Given the description of an element on the screen output the (x, y) to click on. 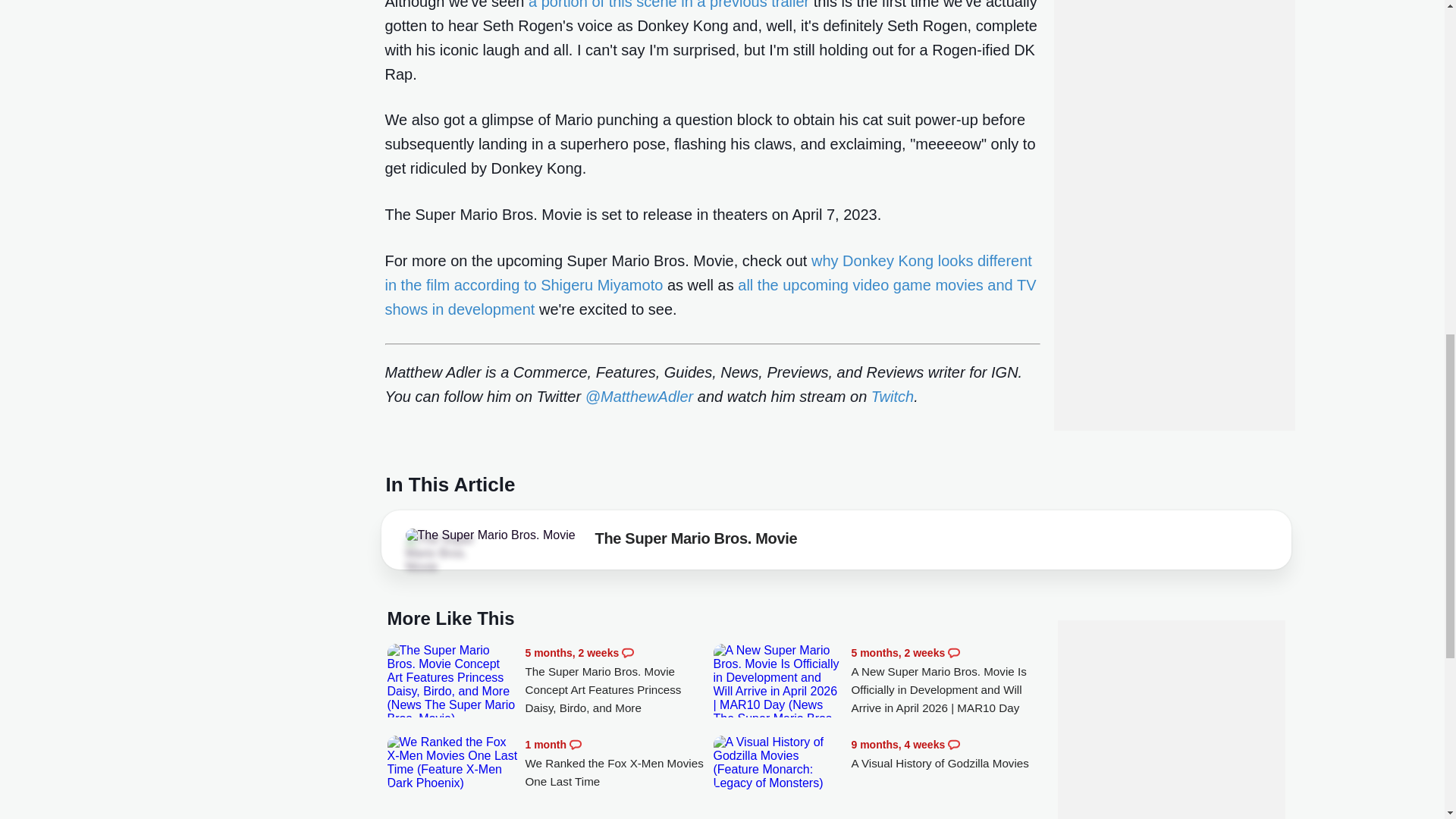
The Super Mario Bros. Movie (489, 535)
A Visual History of Godzilla Movies (778, 762)
We Ranked the Fox X-Men Movies One Last Time (451, 762)
A Visual History of Godzilla Movies (944, 754)
The Super Mario Bros. Movie (696, 540)
Comments (627, 653)
We Ranked the Fox X-Men Movies One Last Time (618, 763)
Comments (574, 744)
a portion of this scene in a previous trailer (668, 4)
Comments (953, 744)
